Given the description of an element on the screen output the (x, y) to click on. 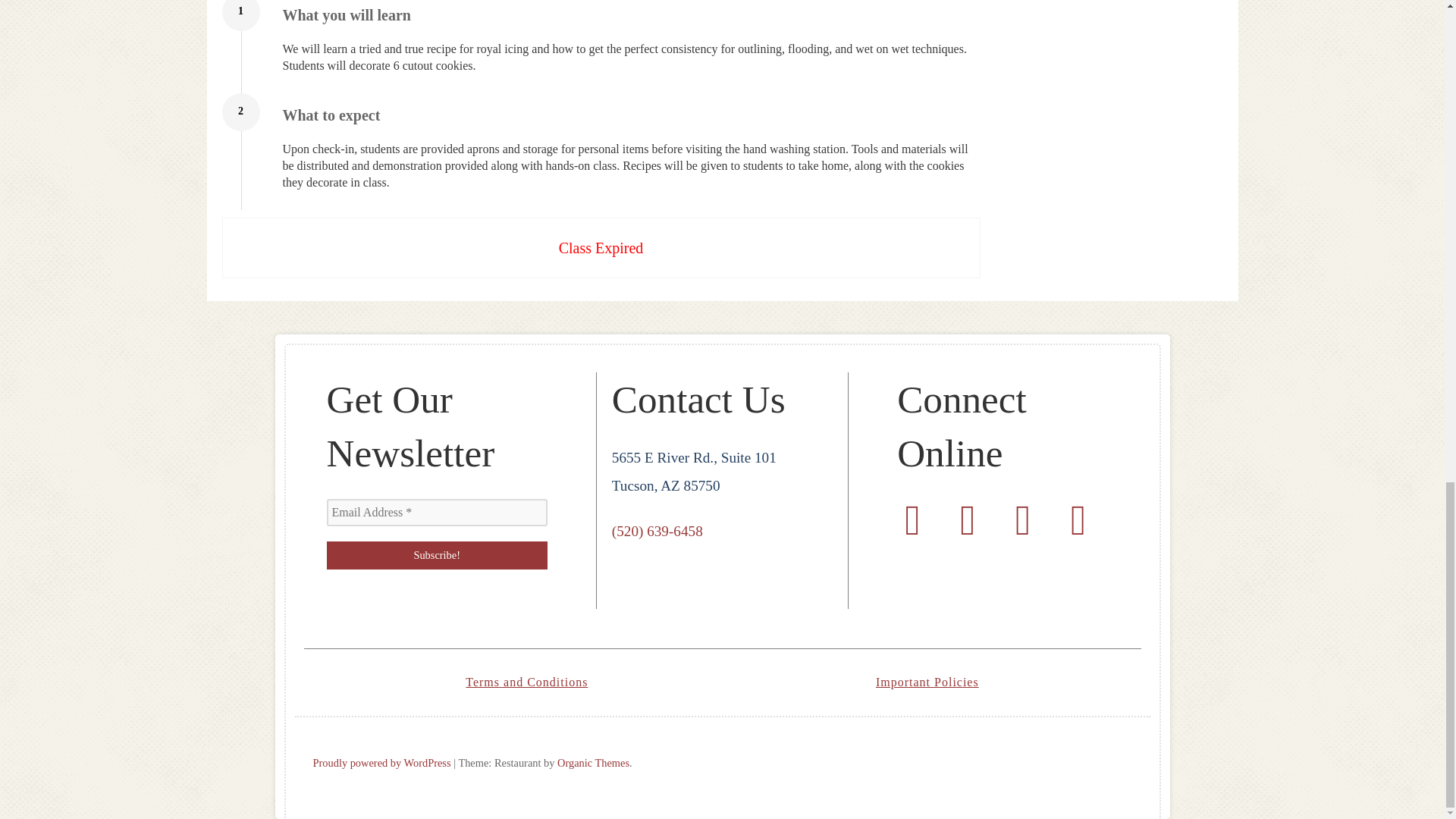
Subscribe! (436, 555)
Subscribe! (436, 555)
Email Address (436, 512)
